Given the description of an element on the screen output the (x, y) to click on. 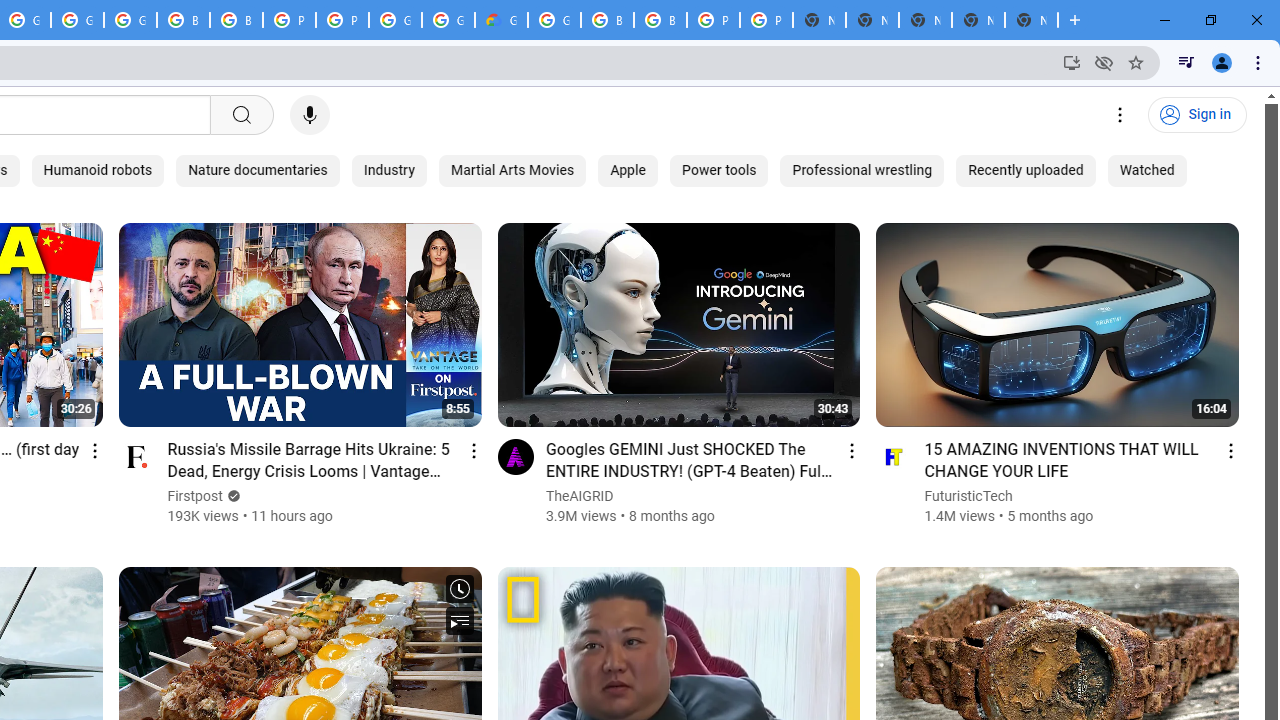
Third-party cookies blocked (1103, 62)
Industry (388, 170)
Google Cloud Platform (554, 20)
FuturisticTech (969, 496)
Google Cloud Estimate Summary (501, 20)
Power tools (719, 170)
Recently uploaded (1025, 170)
Nature documentaries (258, 170)
Browse Chrome as a guest - Computer - Google Chrome Help (235, 20)
Sign in (1197, 115)
Search (240, 115)
